Given the description of an element on the screen output the (x, y) to click on. 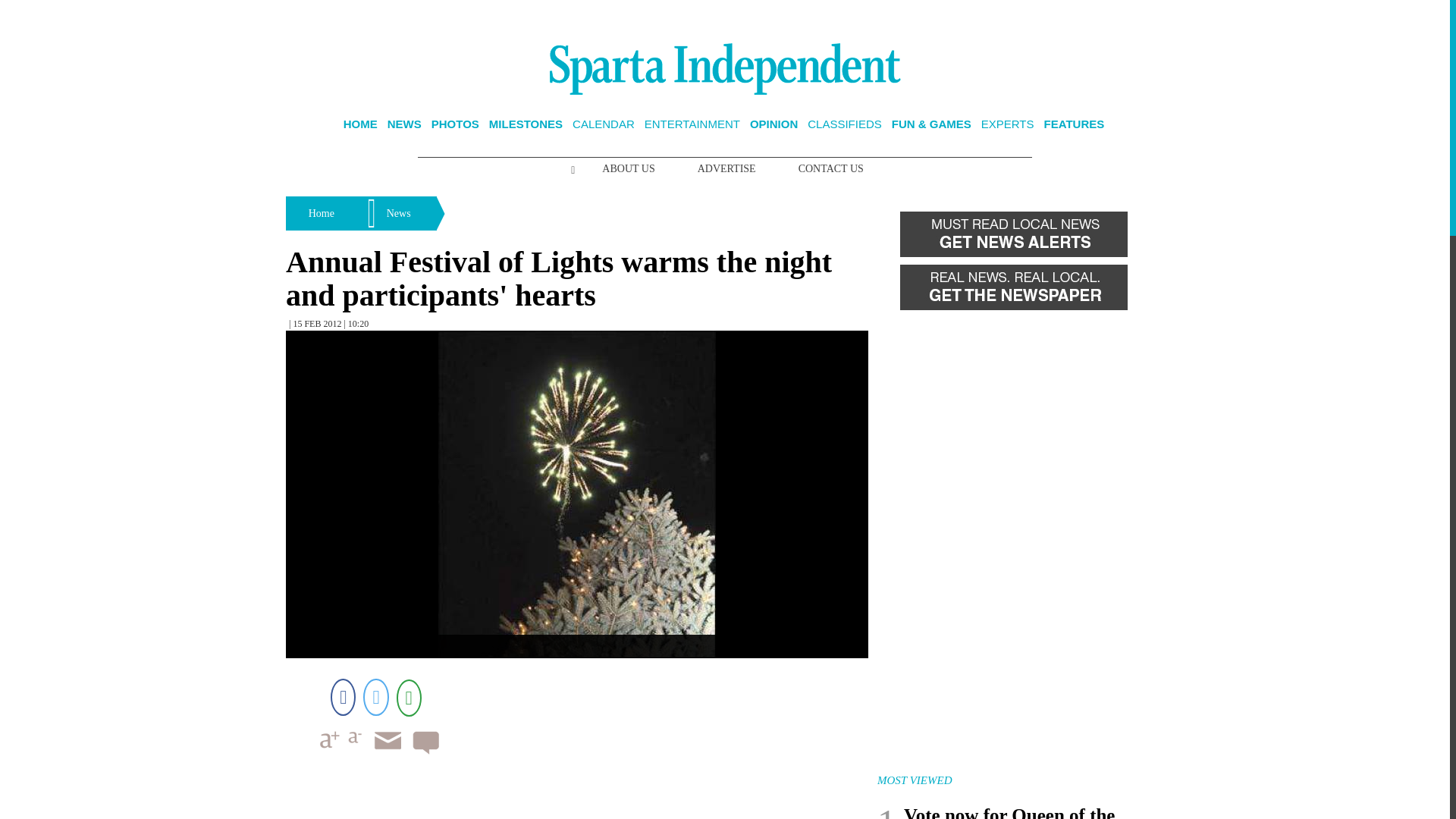
CLASSIFIEDS (845, 123)
ENTERTAINMENT (692, 123)
PHOTOS (454, 123)
NEWS (404, 123)
CALENDAR (603, 123)
EXPERTS (1007, 123)
OPINION (773, 123)
HOME (360, 123)
MILESTONES (525, 123)
FEATURES (1074, 123)
